Given the description of an element on the screen output the (x, y) to click on. 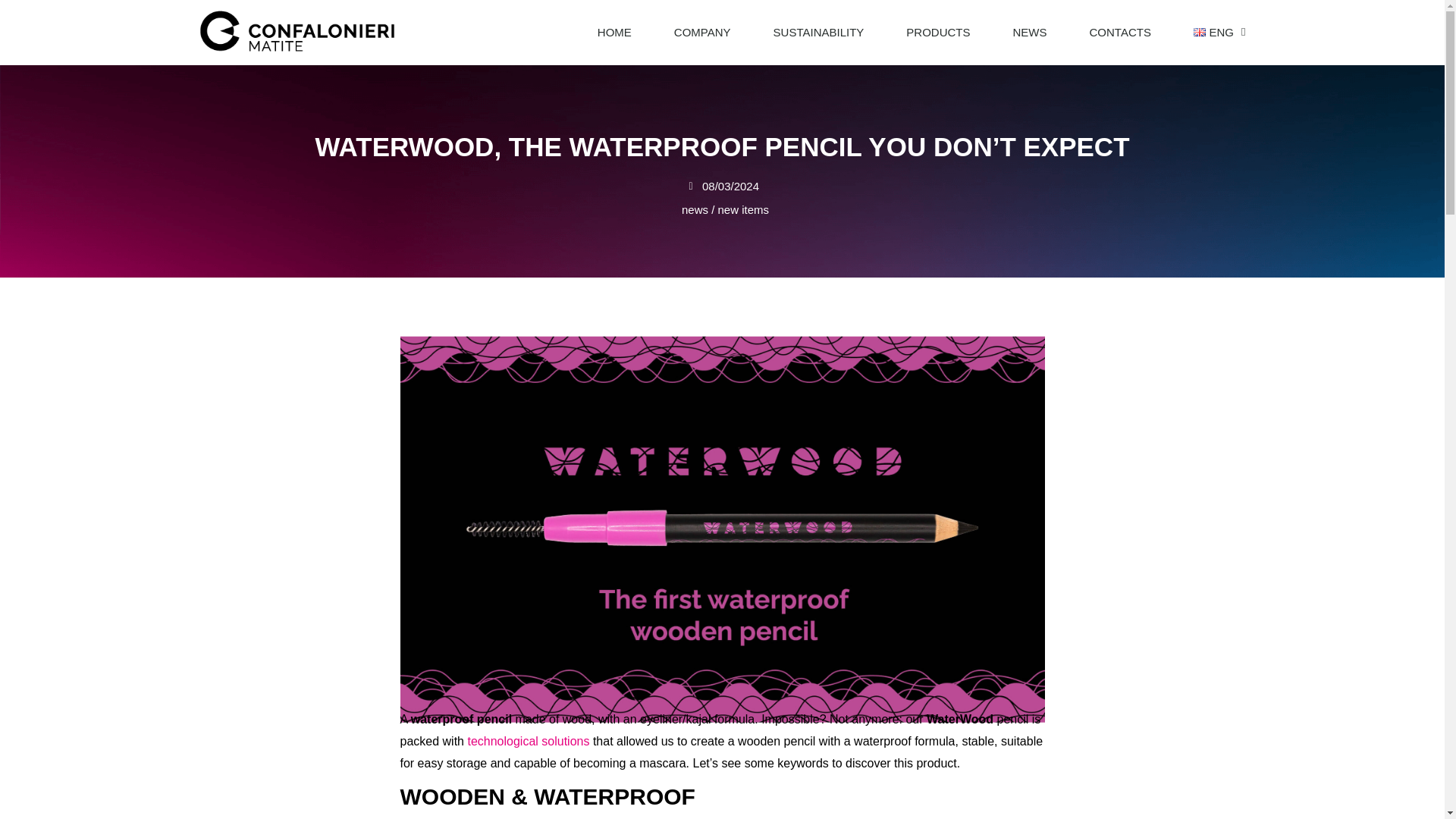
COMPANY (702, 31)
NEWS (1029, 31)
news (694, 209)
HOME (614, 31)
SUSTAINABILITY (818, 31)
CONTACTS (1119, 31)
PRODUCTS (938, 31)
ENG (1213, 31)
